Given the description of an element on the screen output the (x, y) to click on. 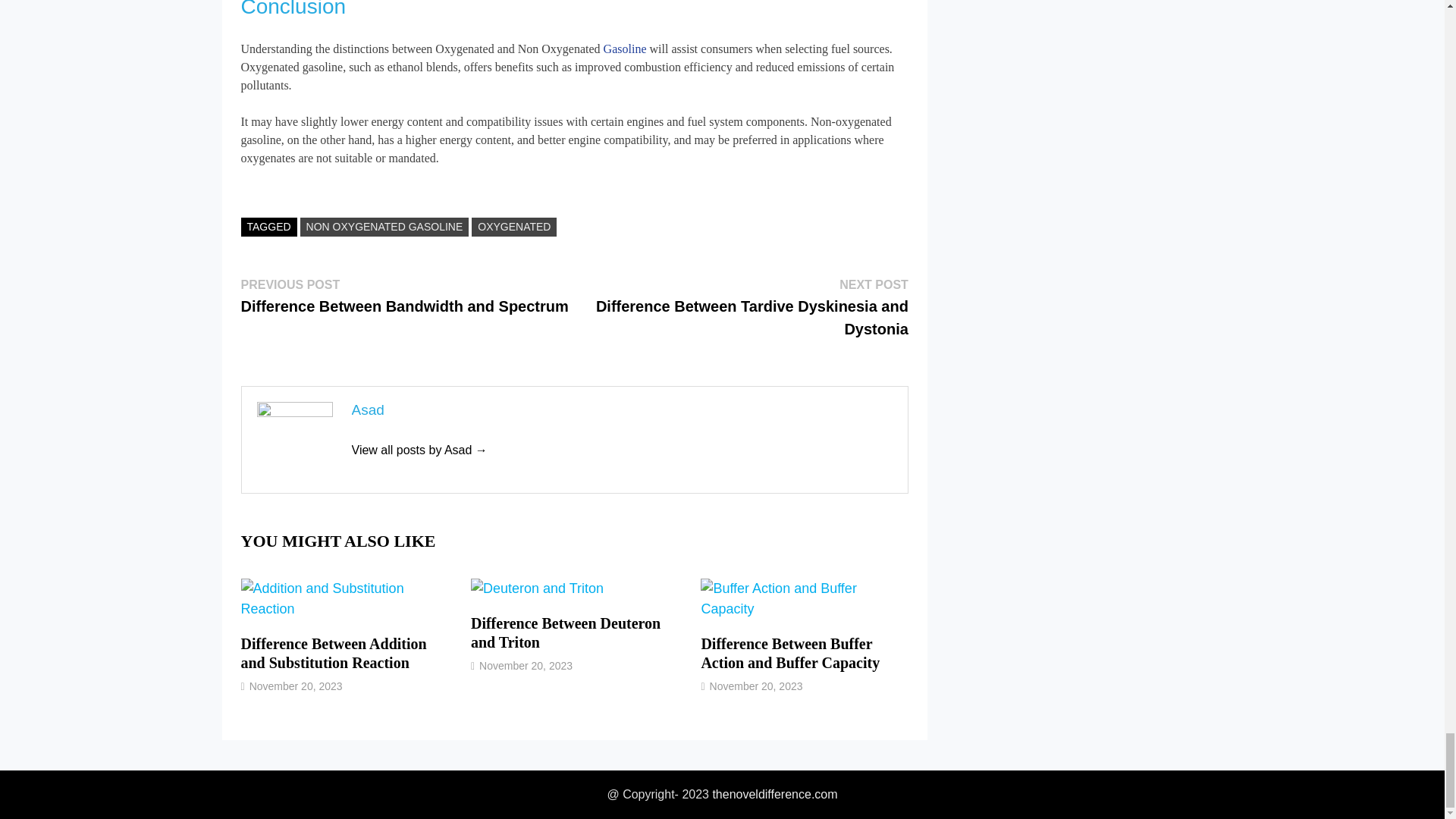
Asad (419, 449)
NON OXYGENATED GASOLINE (383, 226)
Gasoline (625, 48)
